Given the description of an element on the screen output the (x, y) to click on. 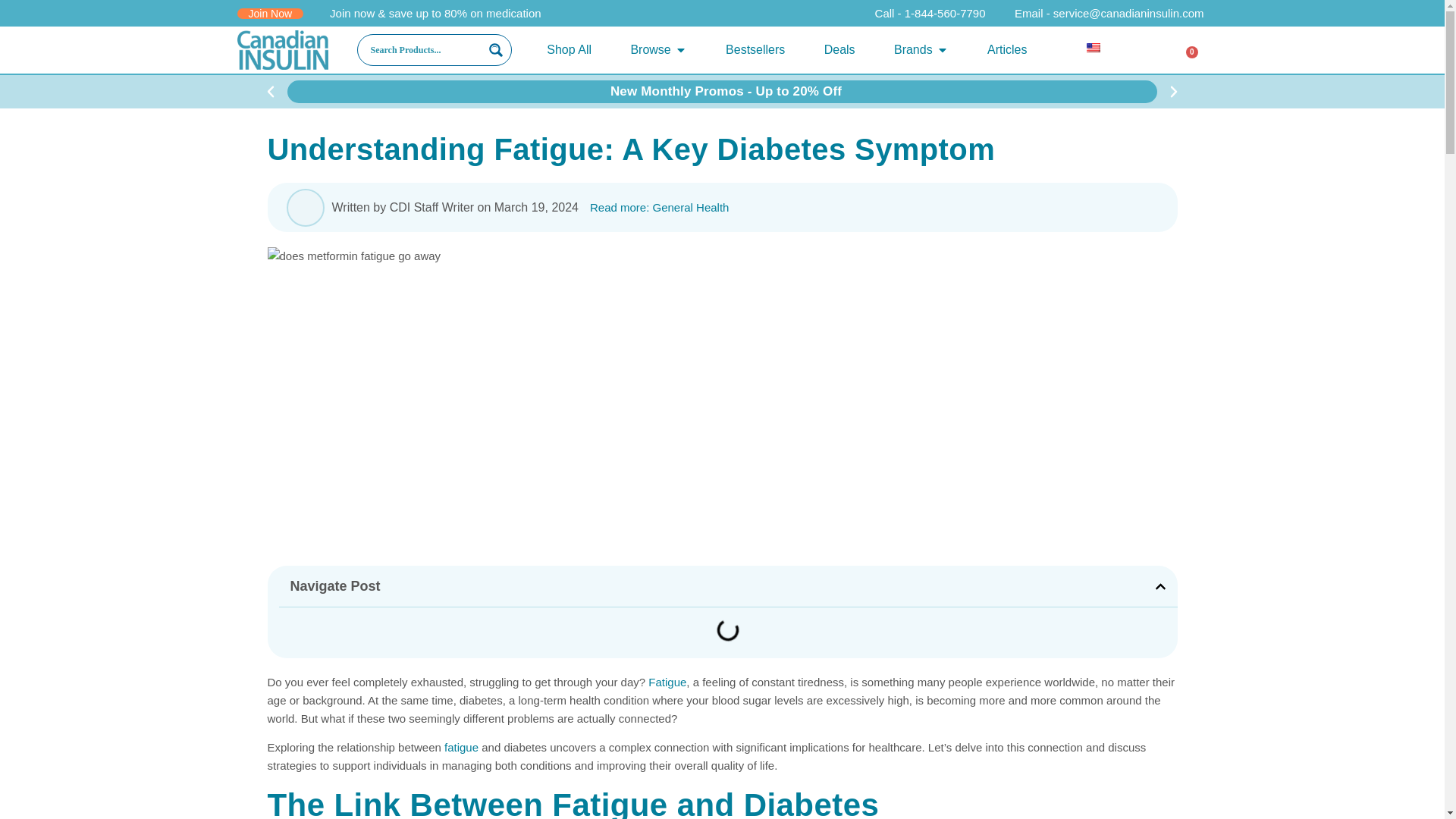
Call - 1-844-560-7790 (921, 13)
Join Now (268, 12)
English (1093, 47)
Shop All (569, 49)
English (1099, 48)
